Given the description of an element on the screen output the (x, y) to click on. 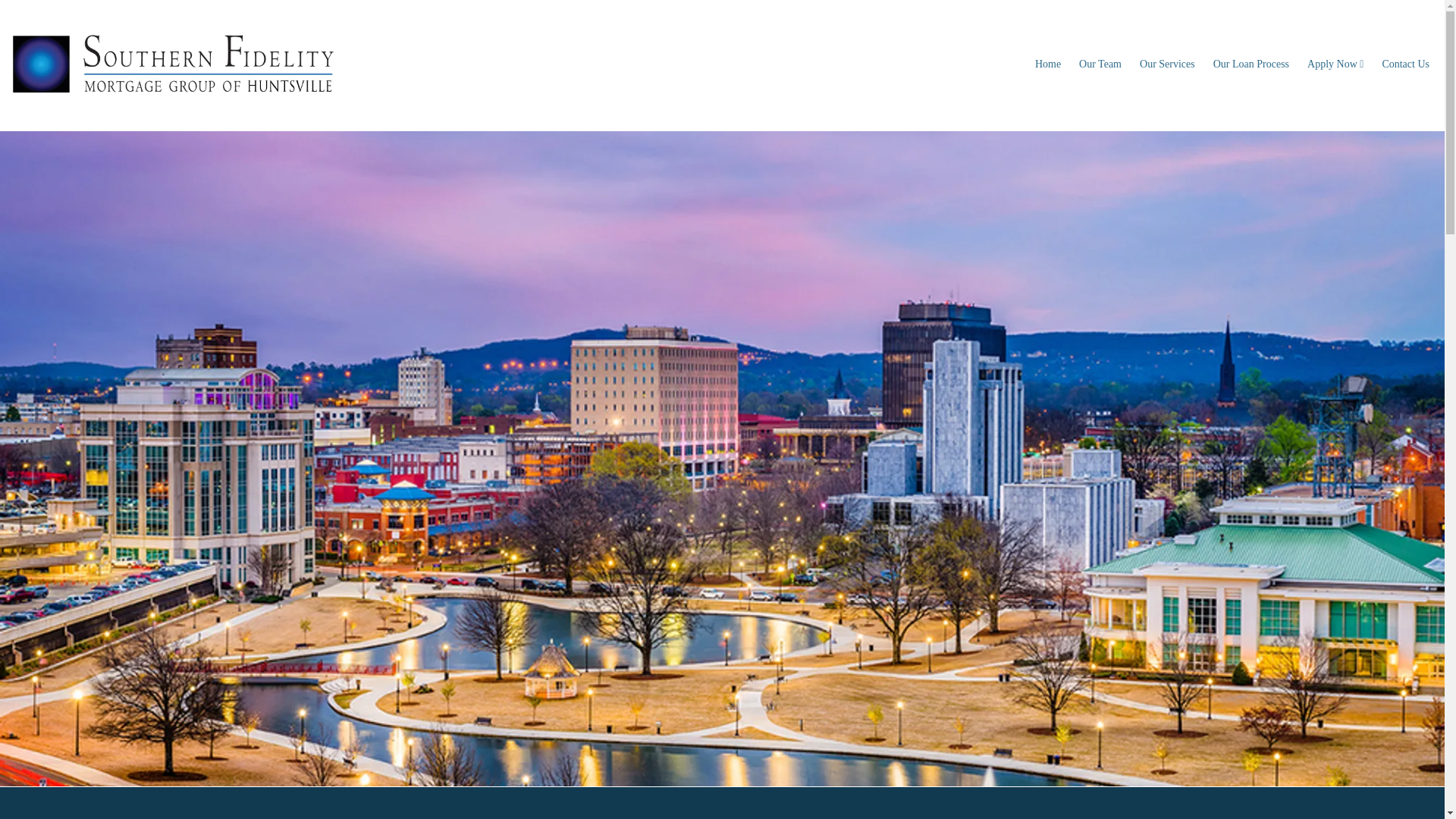
Our Team (1100, 65)
Contact Us (1405, 65)
Apply Now (1335, 65)
Home (1048, 65)
Our Services (1167, 65)
Our Loan Process (1251, 65)
